Given the description of an element on the screen output the (x, y) to click on. 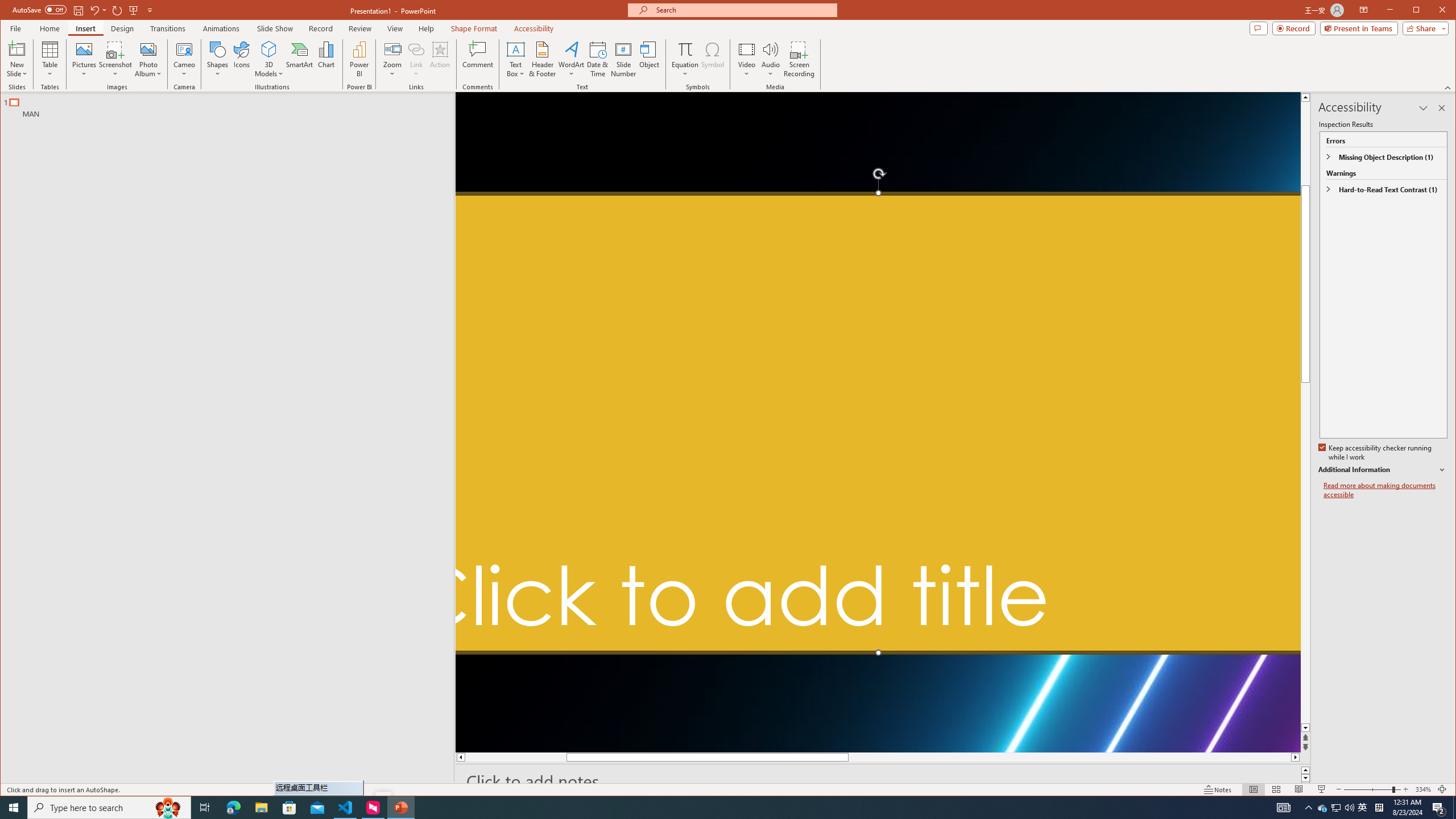
WordArt (571, 59)
Photo Album... (148, 59)
